Given the description of an element on the screen output the (x, y) to click on. 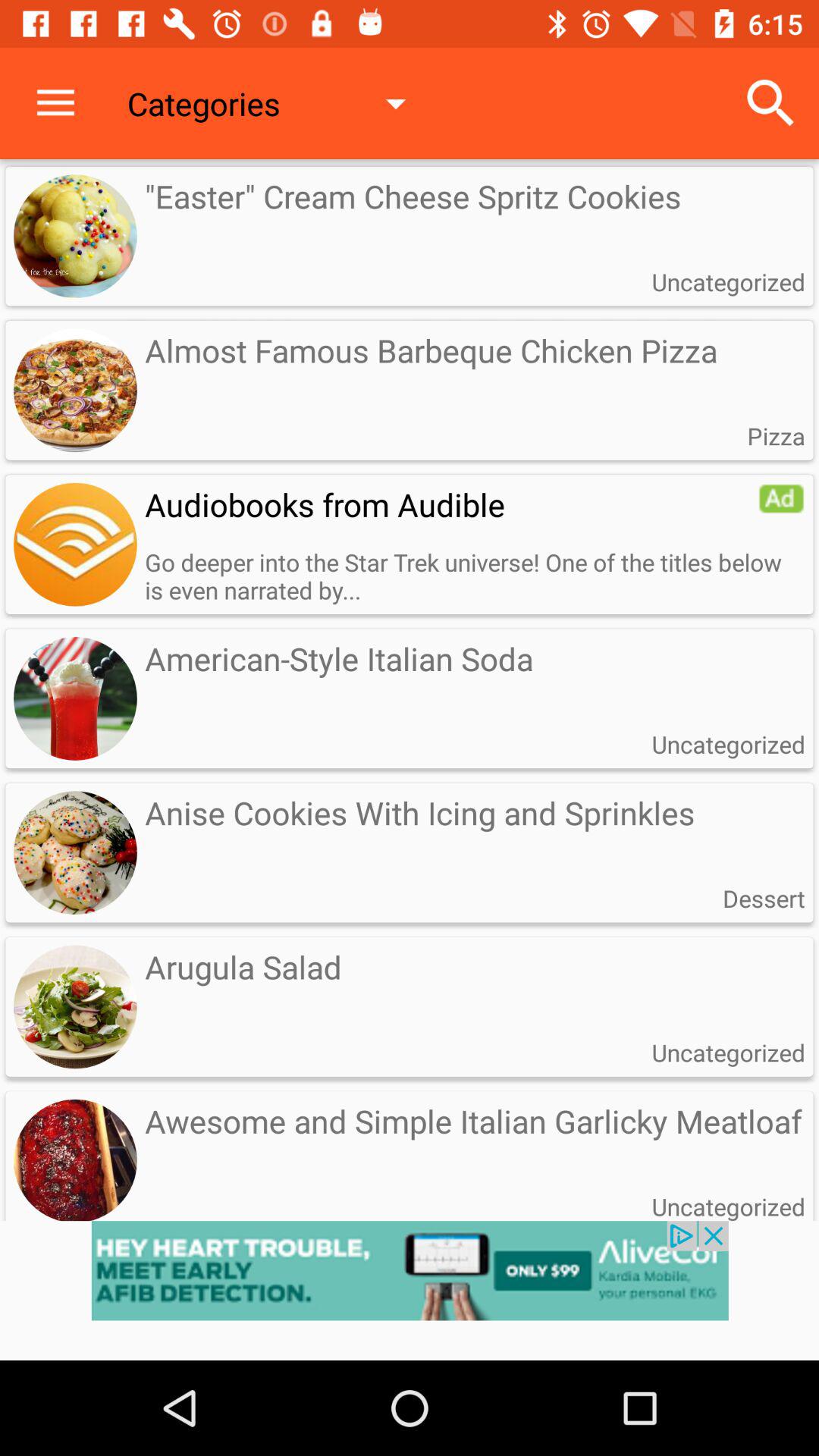
advertisement option (781, 498)
